Given the description of an element on the screen output the (x, y) to click on. 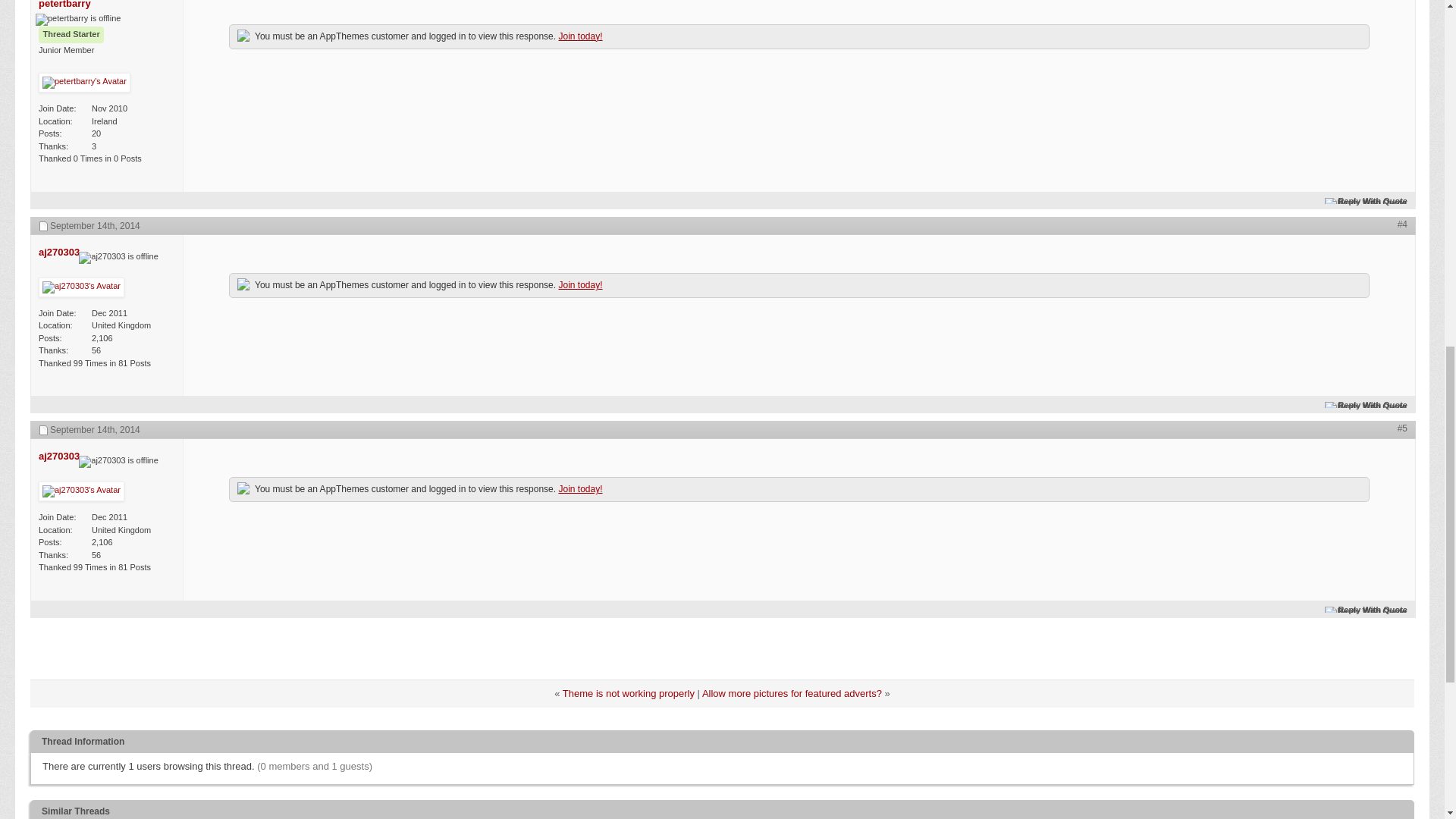
petertbarry is offline (64, 4)
petertbarry (64, 4)
Join today! (579, 36)
petertbarry is offline (77, 19)
